Given the description of an element on the screen output the (x, y) to click on. 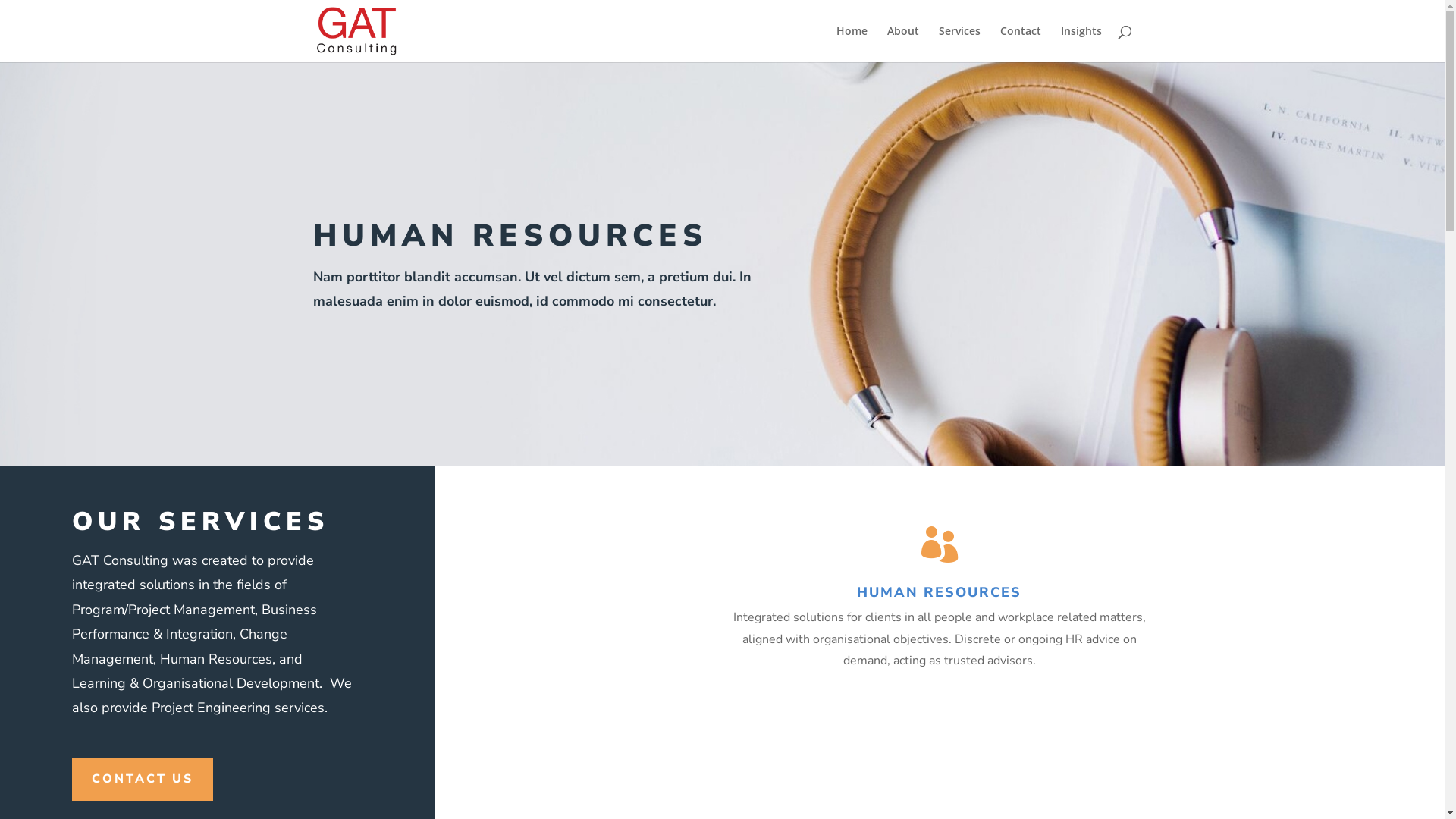
Contact Element type: text (1019, 43)
Home Element type: text (850, 43)
Services Element type: text (959, 43)
CONTACT US Element type: text (142, 779)
Insights Element type: text (1080, 43)
About Element type: text (903, 43)
